Given the description of an element on the screen output the (x, y) to click on. 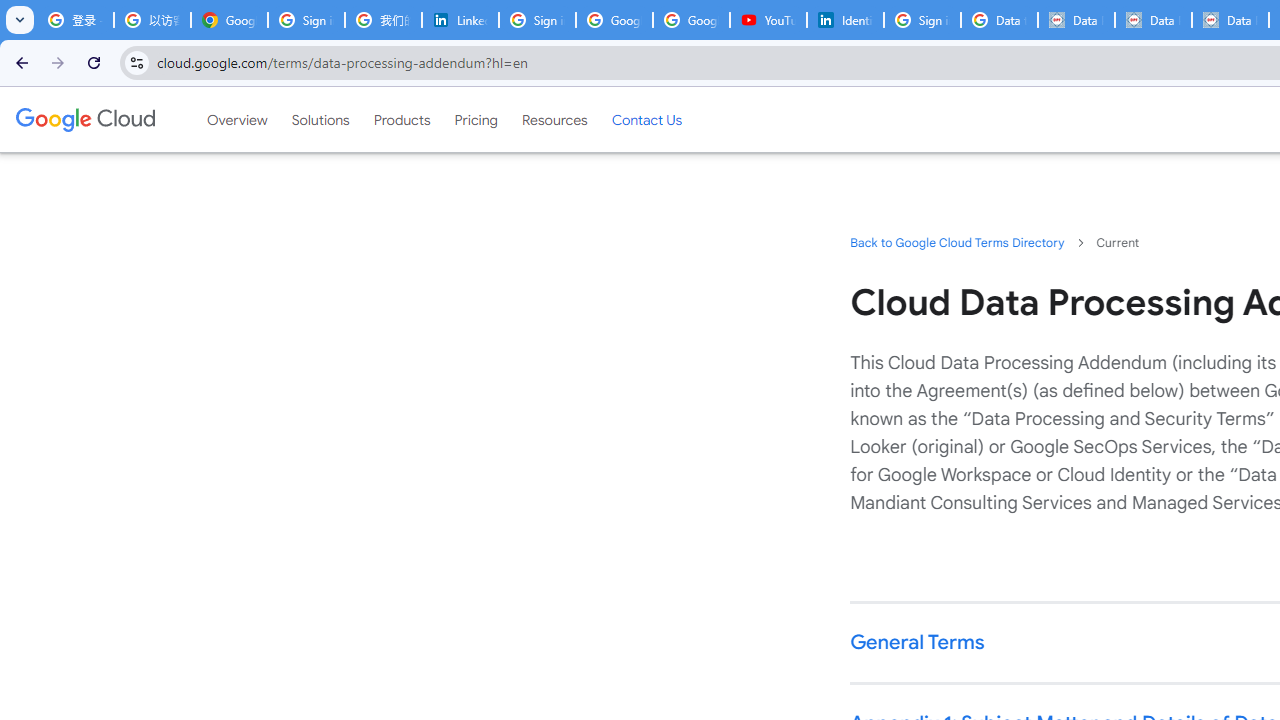
Products (401, 119)
